Given the description of an element on the screen output the (x, y) to click on. 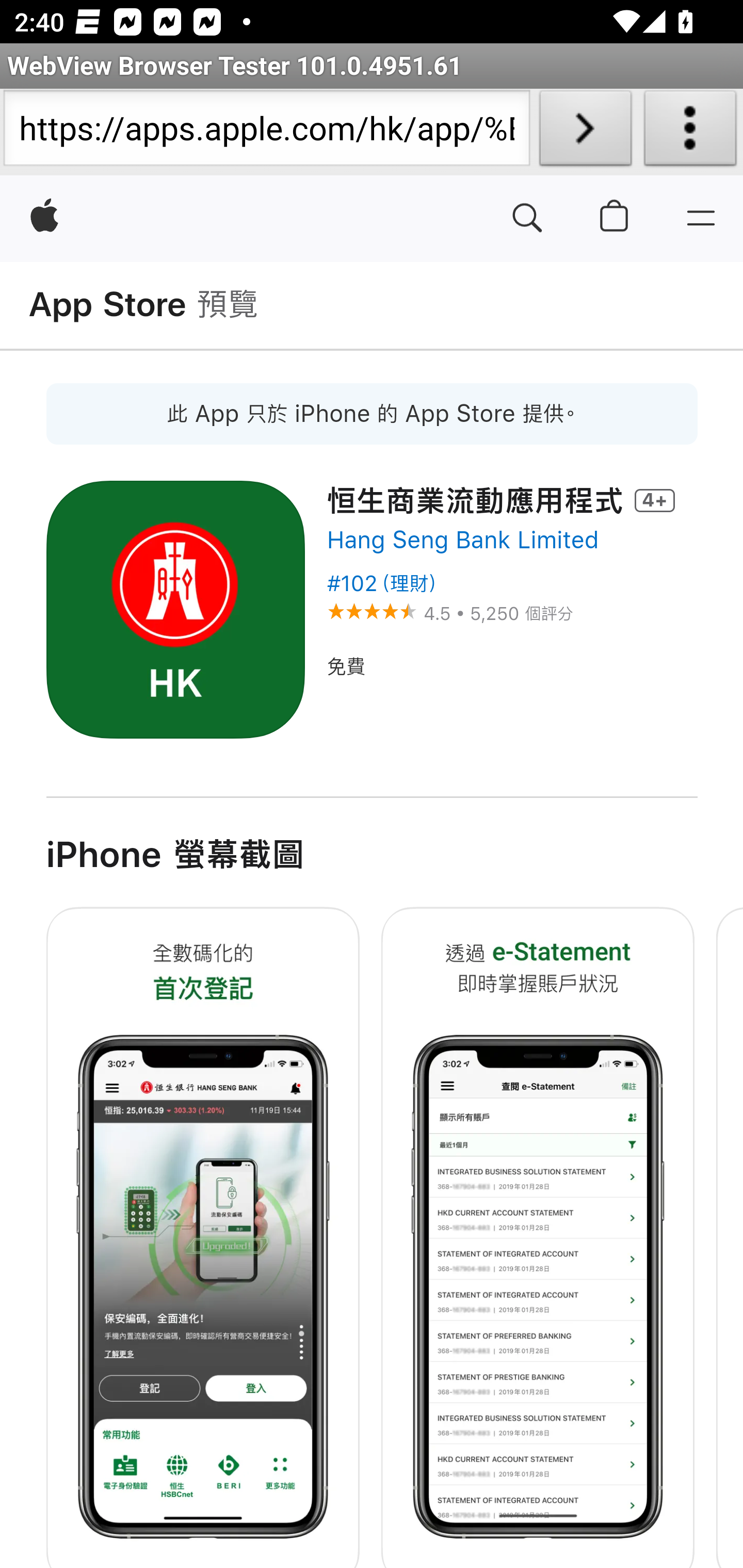
Load URL (585, 132)
About WebView (690, 132)
Apple (45, 219)
搜尋 apple.com (526, 219)
購物袋 (614, 219)
選單 (700, 219)
App Store (107, 304)
Hang Seng Bank Limited (462, 538)
#102（理財） (383, 583)
